Given the description of an element on the screen output the (x, y) to click on. 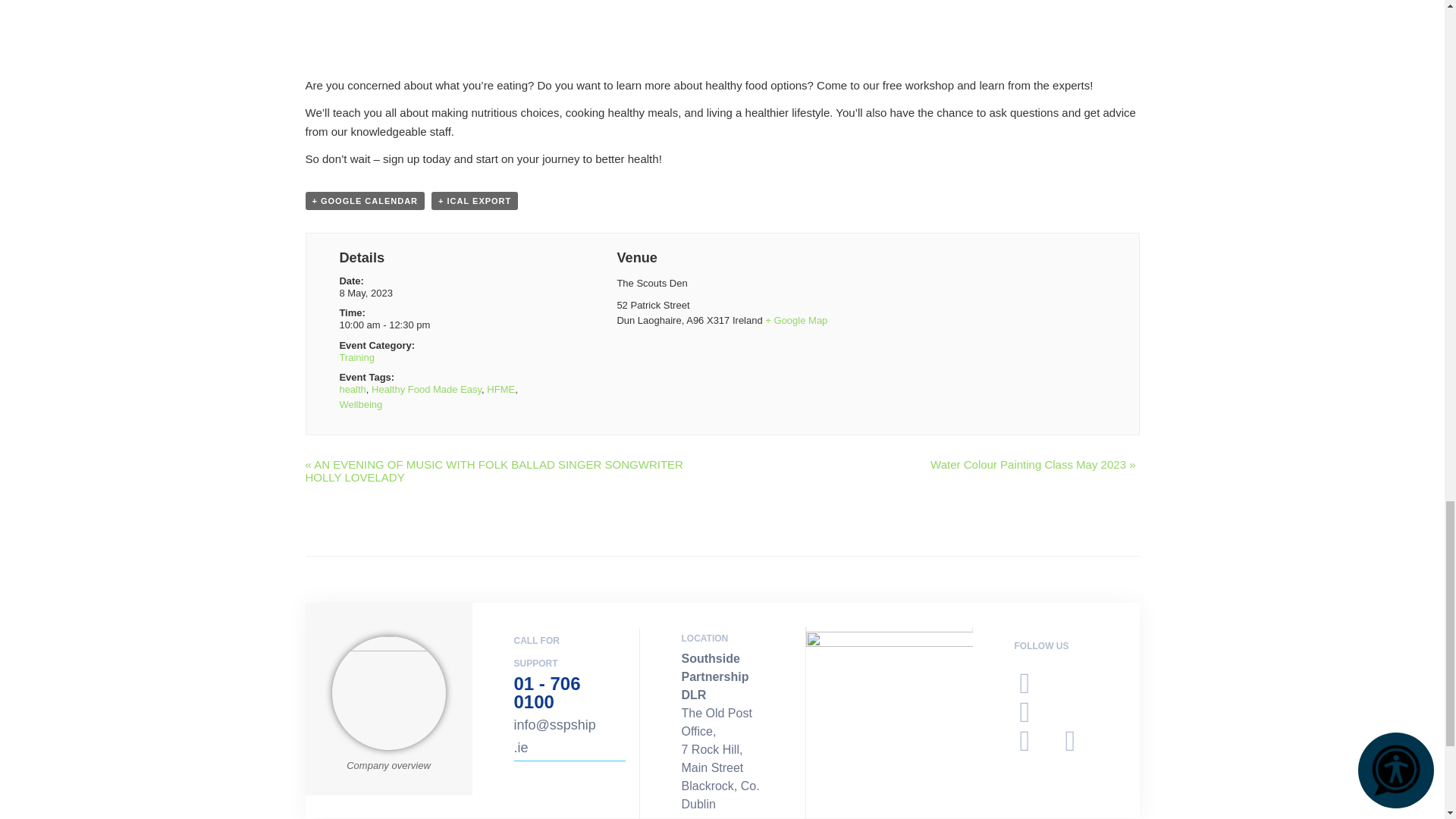
Download .ics file (474, 200)
Add to Google Calendar (364, 200)
Click to view a Google Map (796, 319)
2023-05-08 (366, 292)
2023-05-08 (444, 324)
